Given the description of an element on the screen output the (x, y) to click on. 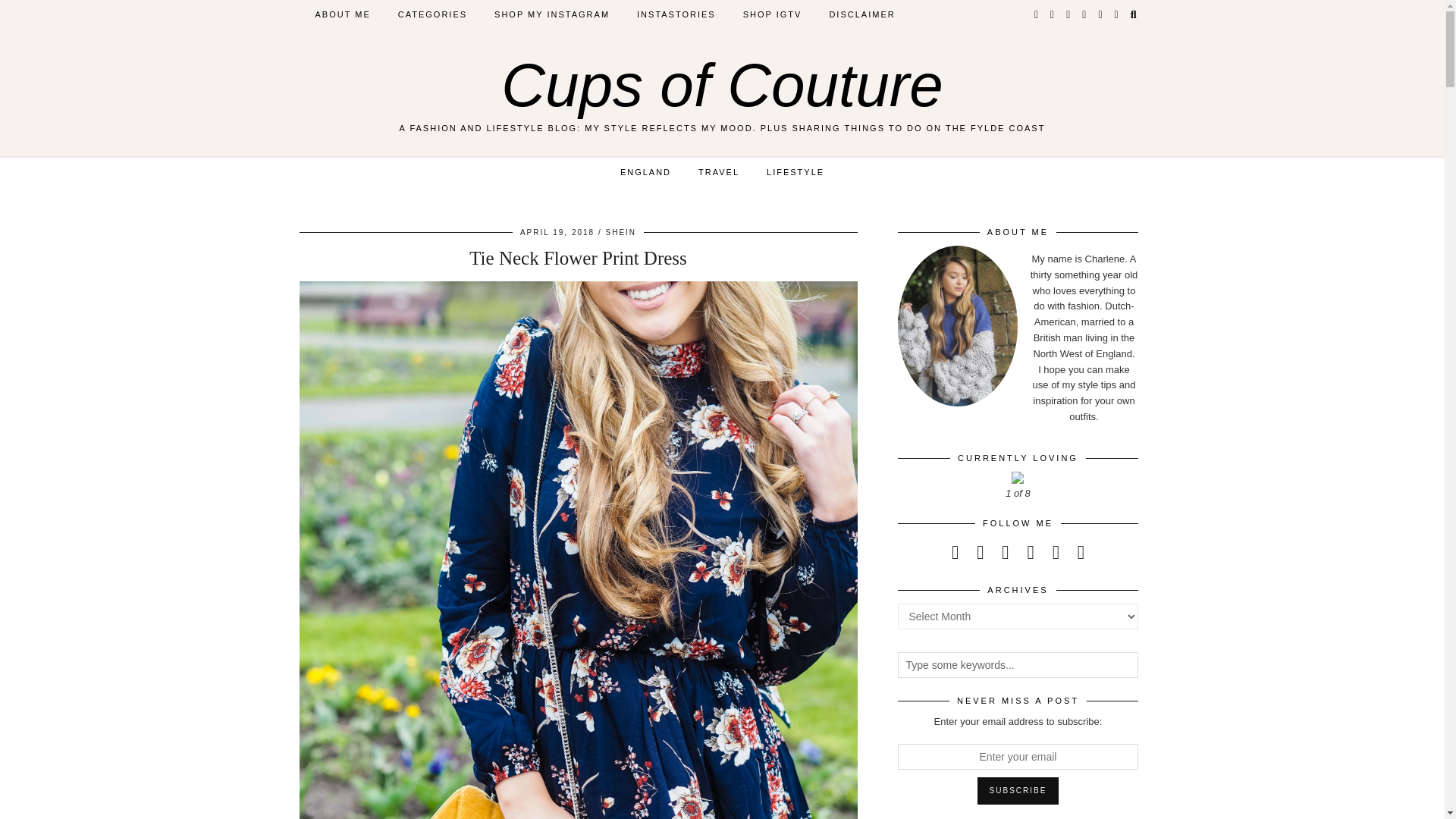
Cups of Couture (721, 84)
Subscribe (1017, 790)
